Given the description of an element on the screen output the (x, y) to click on. 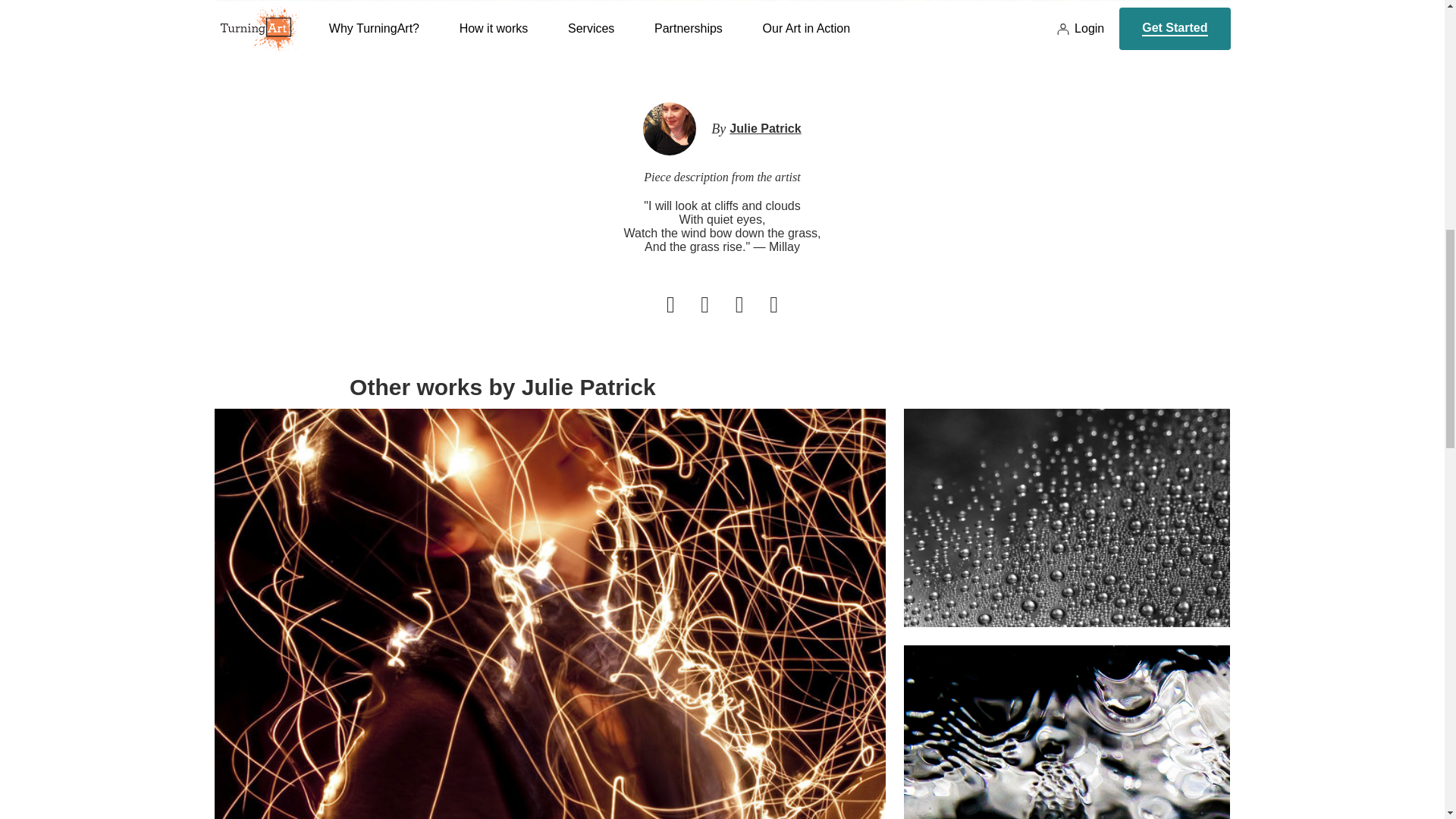
Julie Patrick (764, 128)
